Given the description of an element on the screen output the (x, y) to click on. 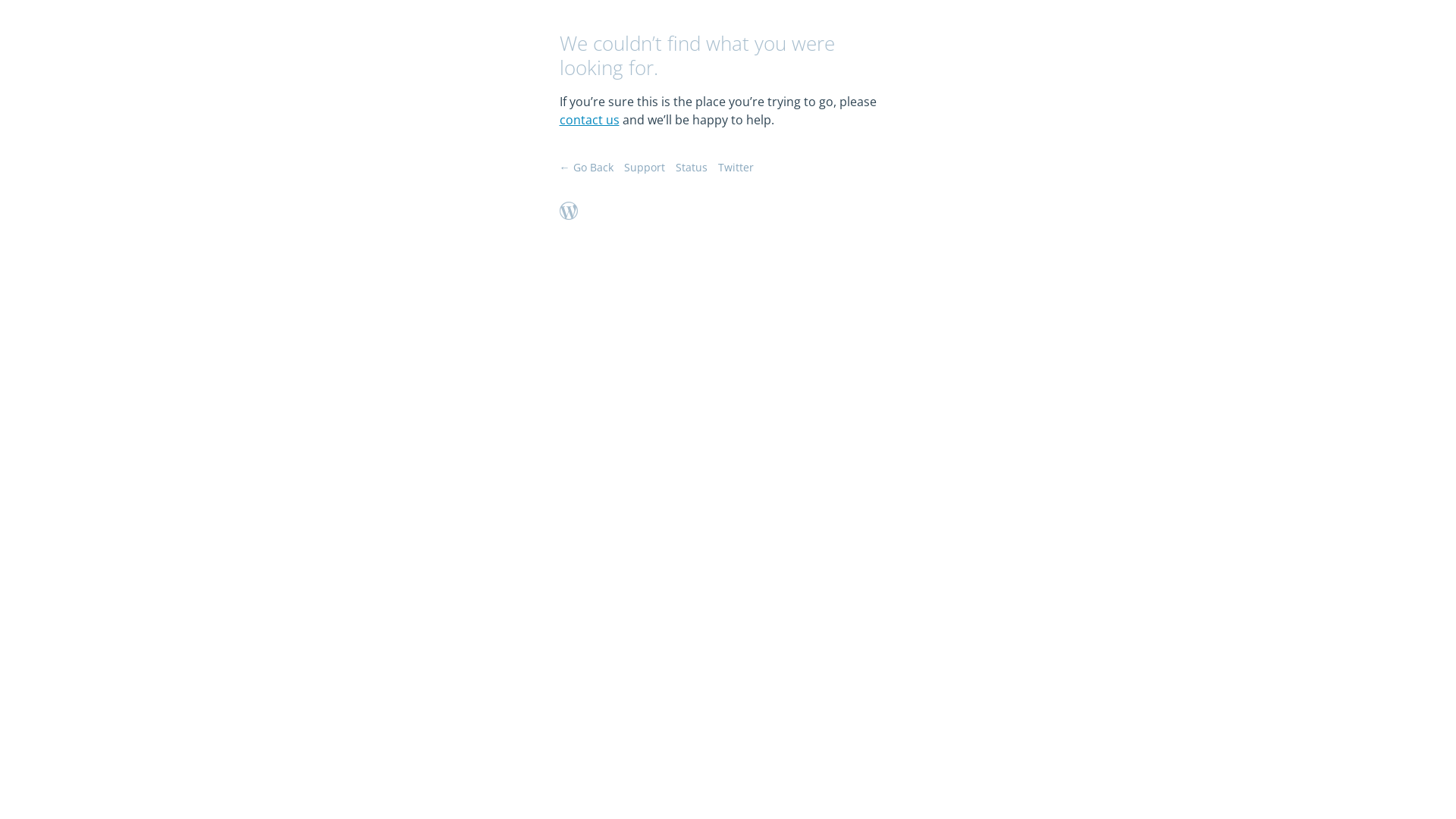
Status Element type: text (690, 167)
Twitter Element type: text (735, 167)
Support Element type: text (643, 167)
contact us Element type: text (589, 119)
